Given the description of an element on the screen output the (x, y) to click on. 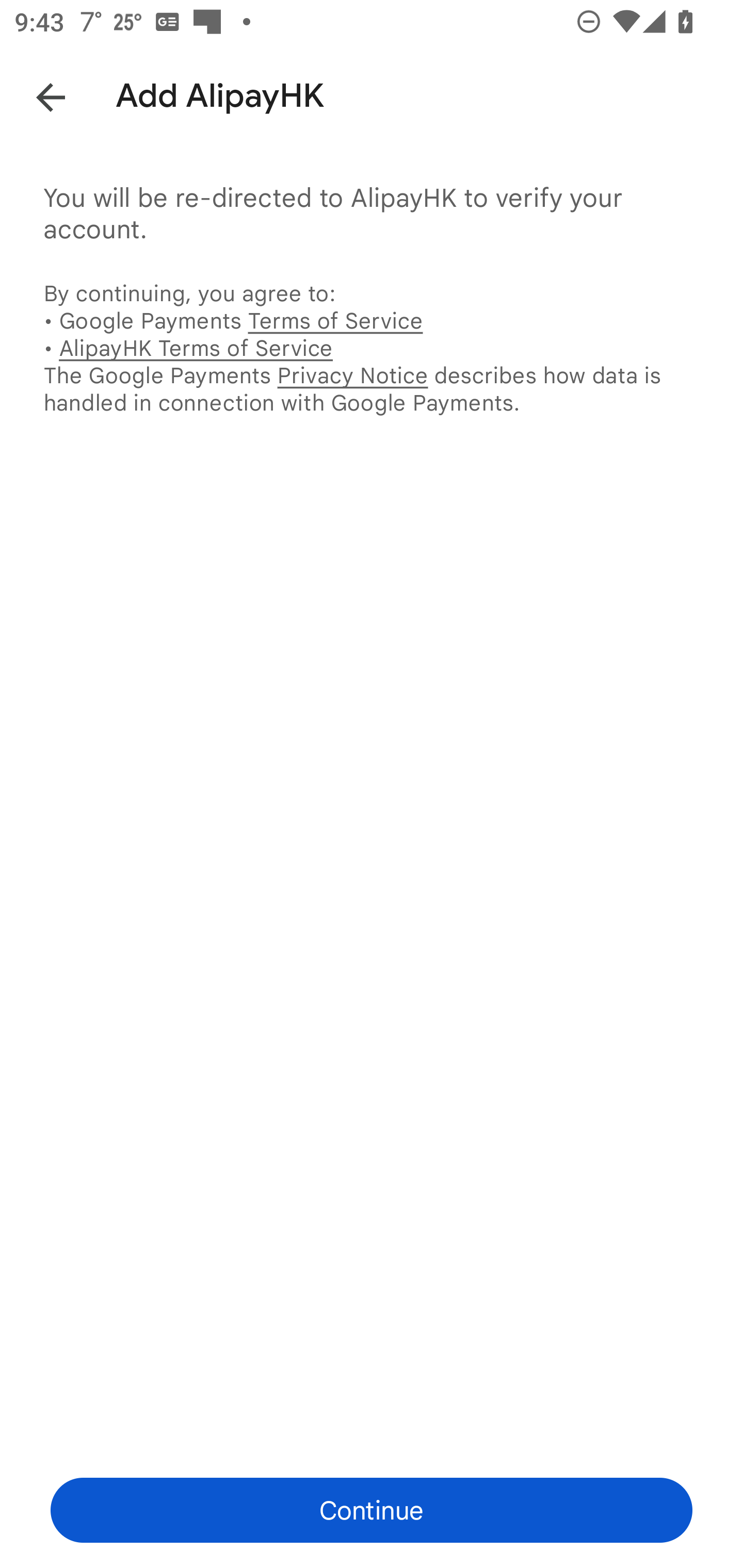
Back (36, 94)
Terms of Service (334, 320)
AlipayHK Terms of Service (195, 347)
Privacy Notice (352, 375)
Continue (371, 1510)
